Given the description of an element on the screen output the (x, y) to click on. 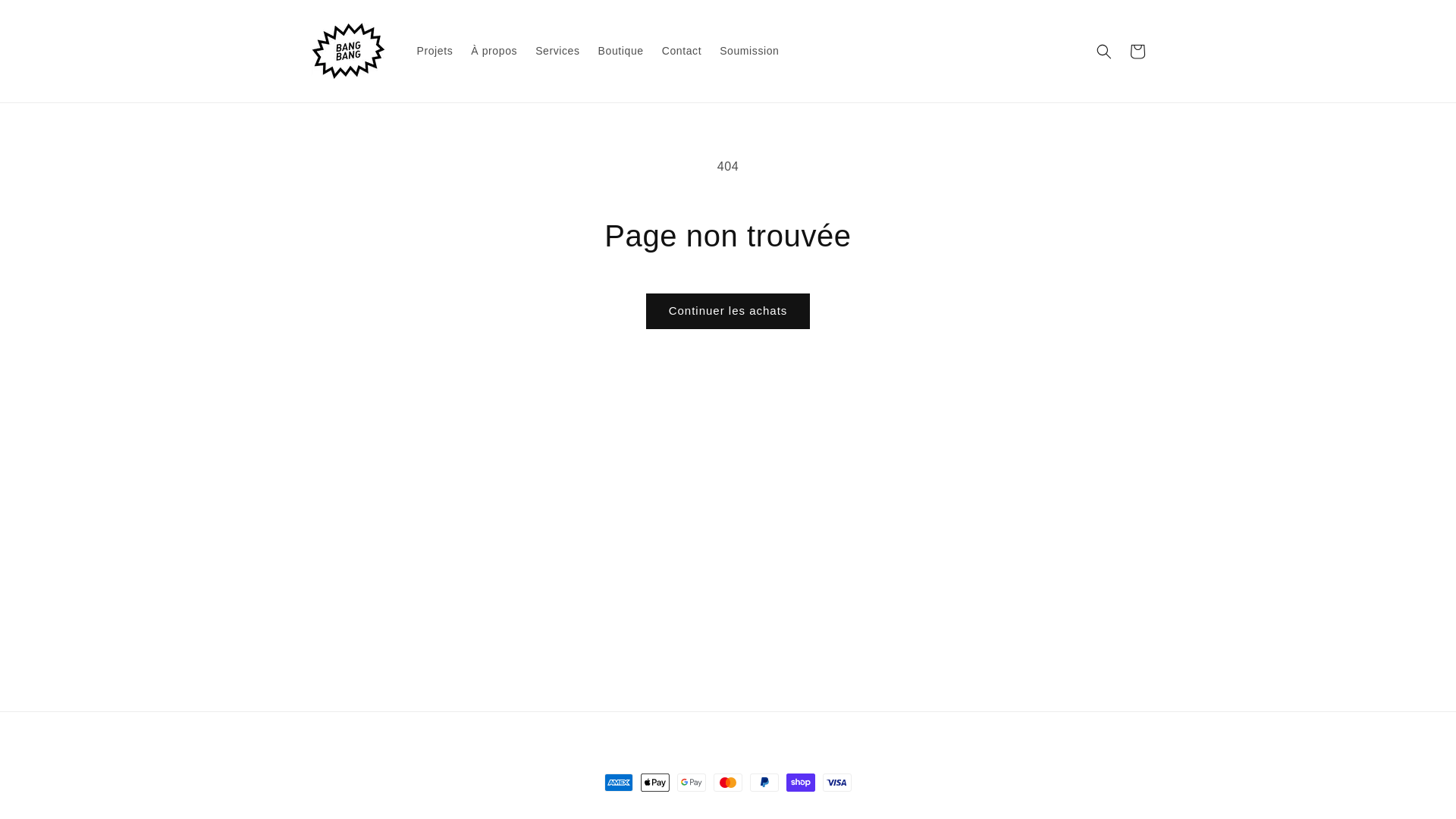
Contact Element type: text (681, 50)
Boutique Element type: text (620, 50)
Services Element type: text (557, 50)
Continuer les achats Element type: text (728, 311)
Soumission Element type: text (748, 50)
Panier Element type: text (1137, 51)
Projets Element type: text (434, 50)
